Given the description of an element on the screen output the (x, y) to click on. 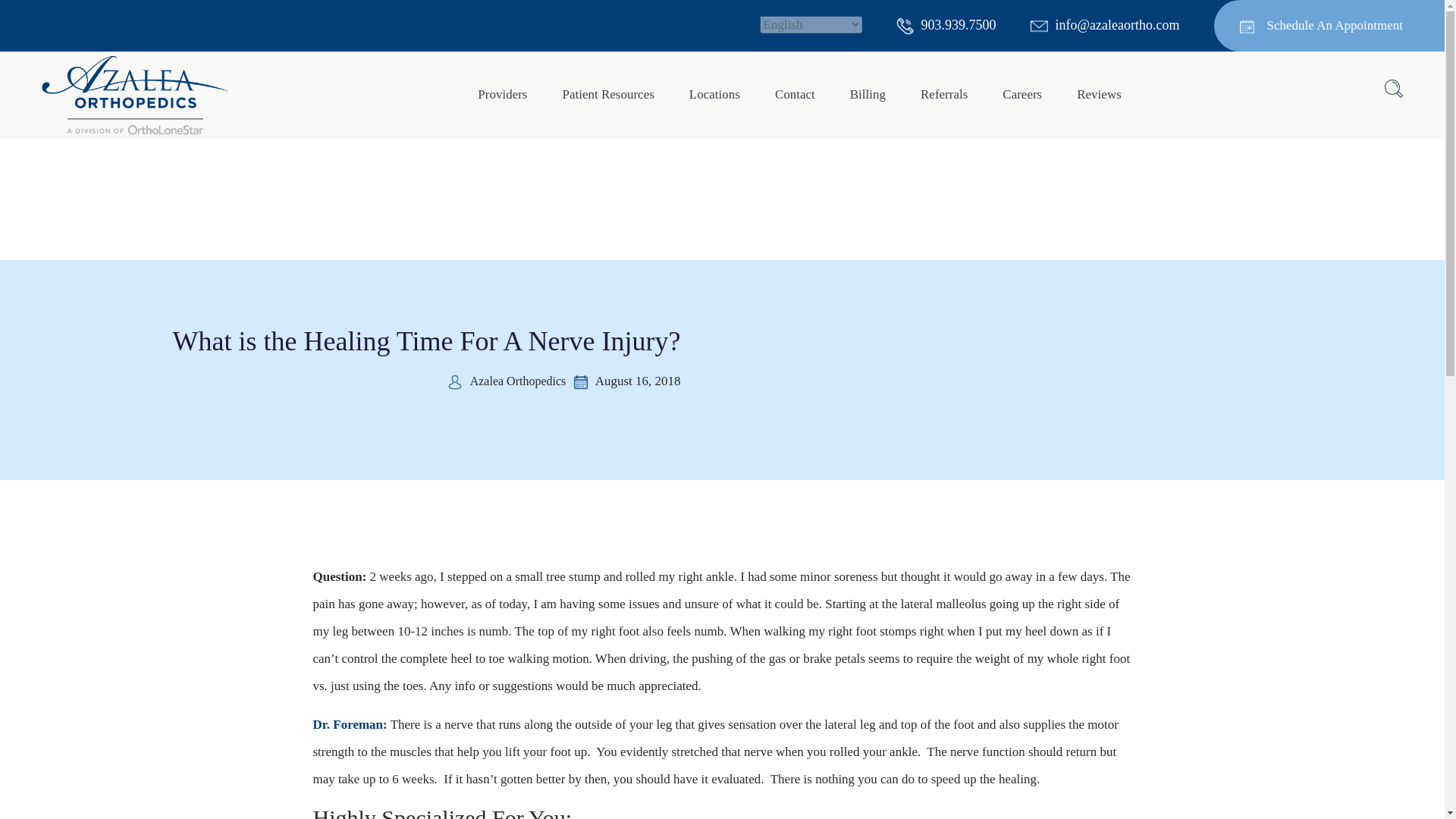
903.939.7500 (945, 24)
Patient Resources (607, 94)
